Given the description of an element on the screen output the (x, y) to click on. 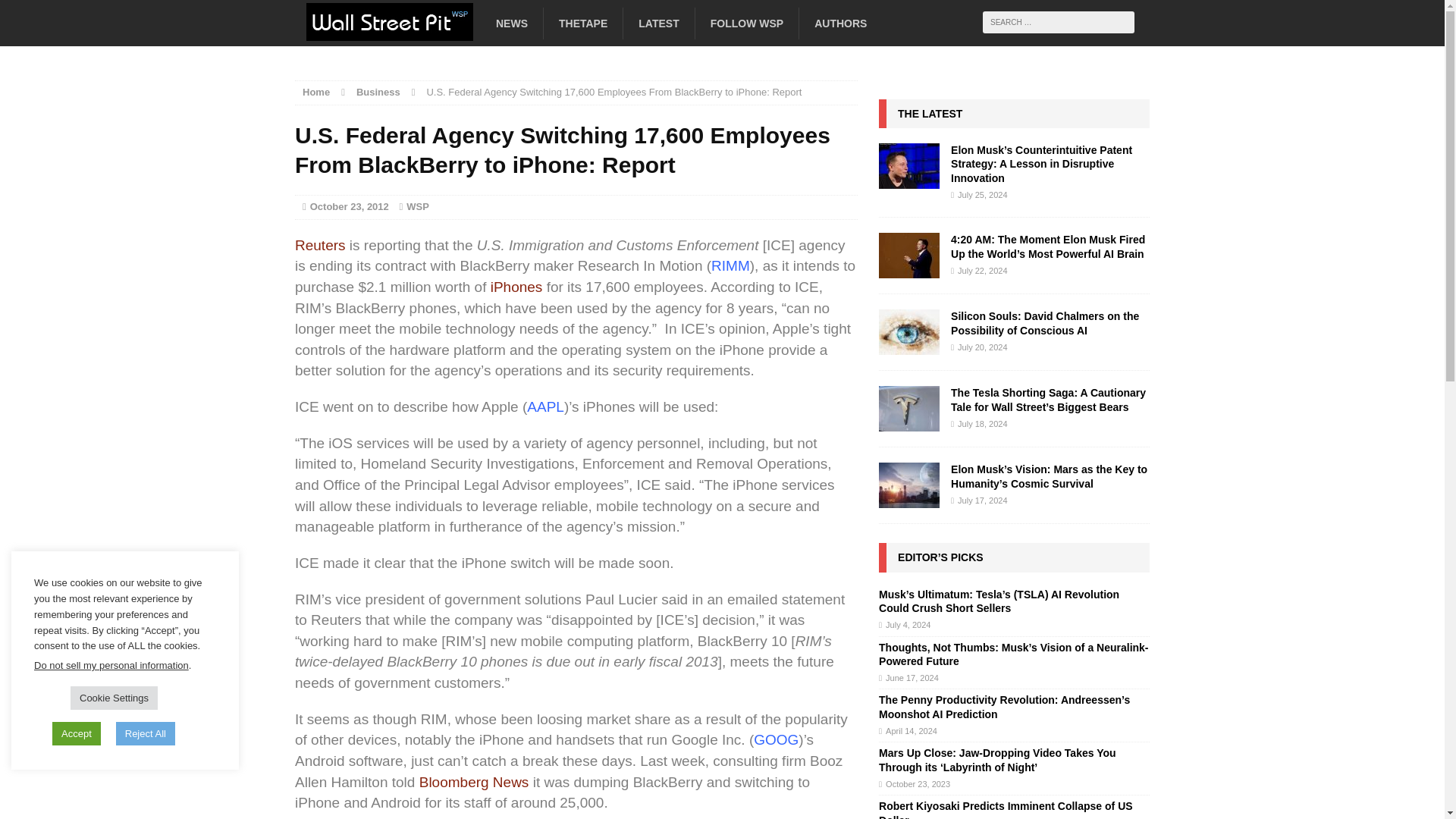
LATEST (658, 23)
THETAPE (583, 23)
Wall Street Pit (427, 28)
NEWS (511, 23)
